Given the description of an element on the screen output the (x, y) to click on. 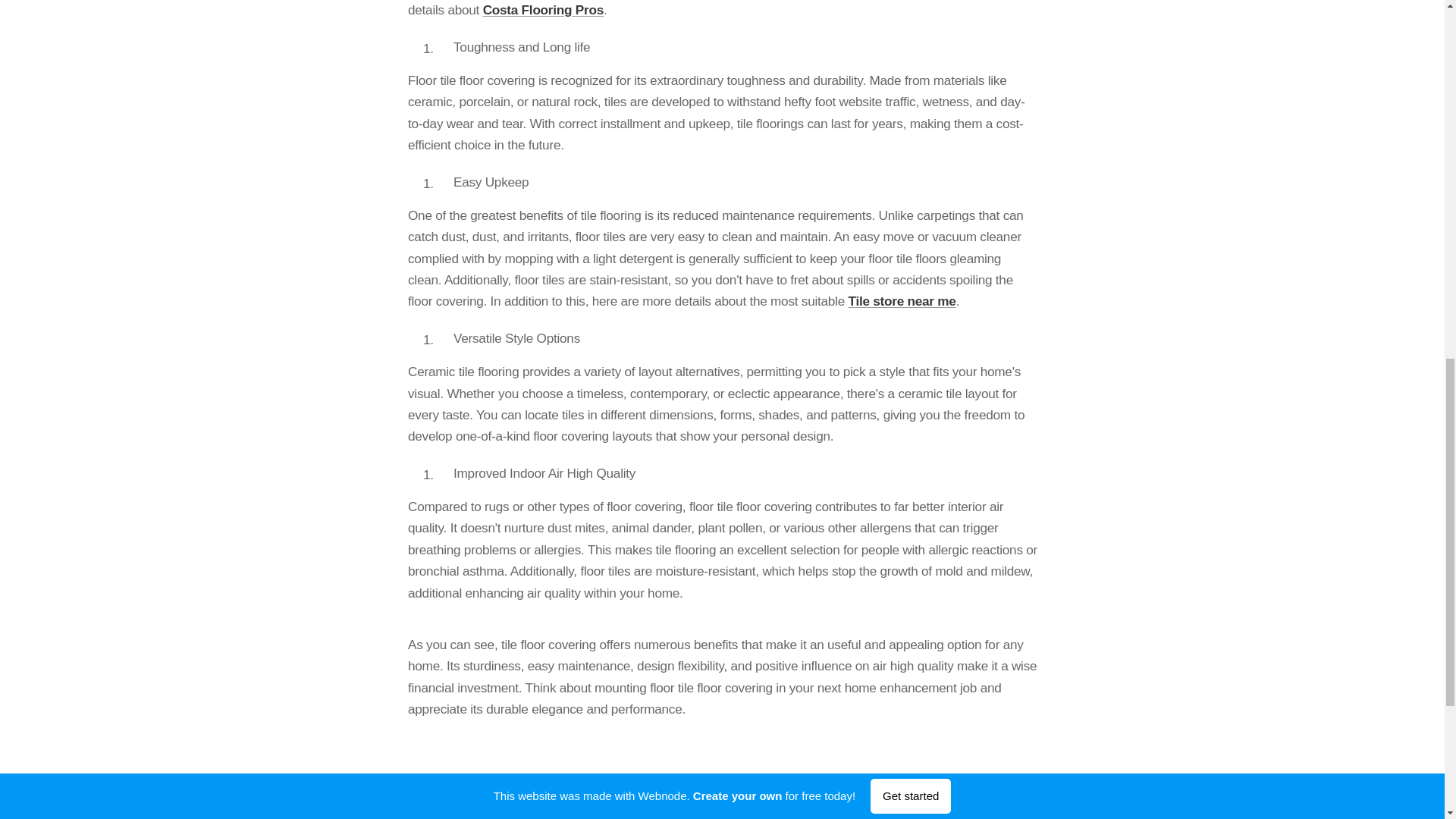
Costa Flooring Pros (541, 9)
Tile store near me (901, 300)
